Given the description of an element on the screen output the (x, y) to click on. 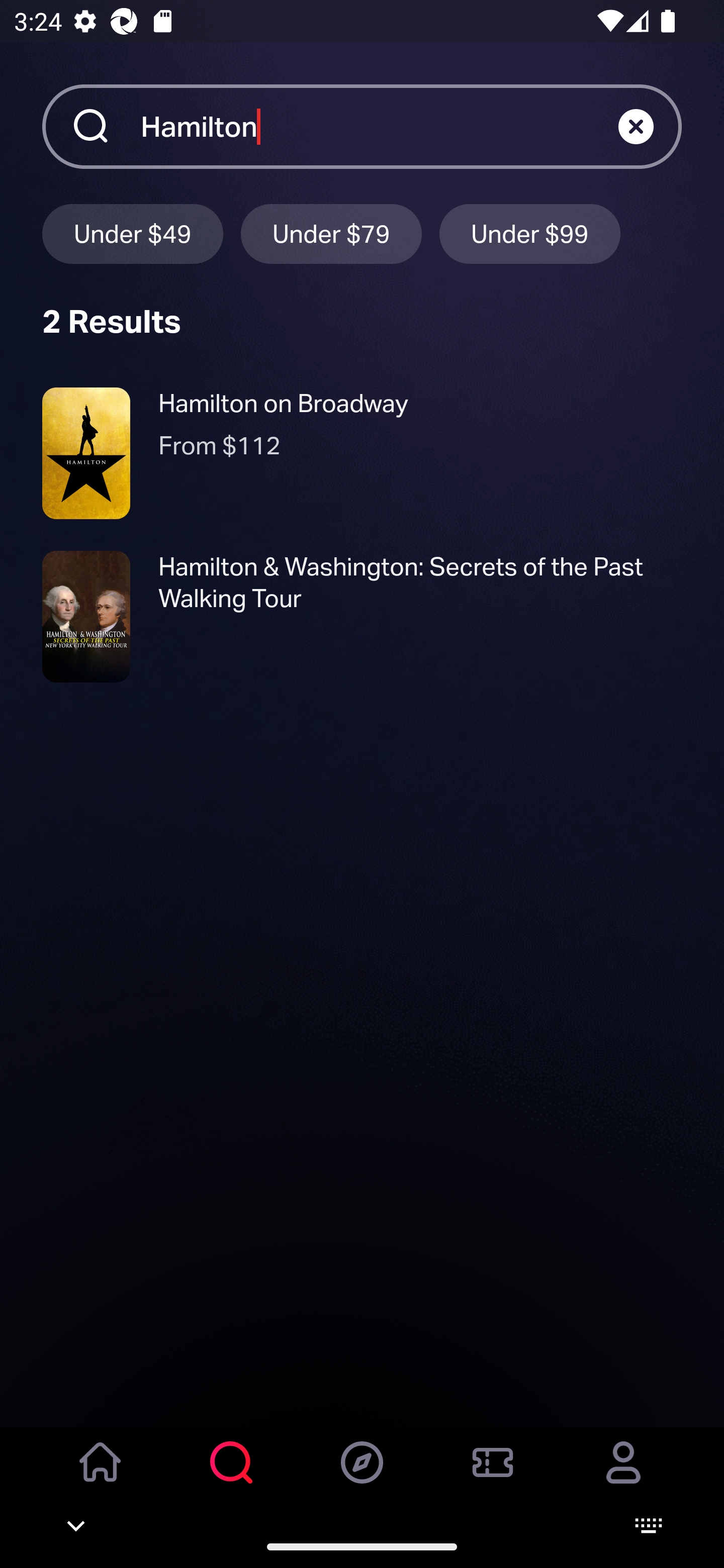
Hamilton (379, 126)
Under $49 (131, 233)
Under $79 (331, 233)
Under $99 (529, 233)
Home (100, 1475)
Discover (361, 1475)
Orders (492, 1475)
Account (623, 1475)
